Given the description of an element on the screen output the (x, y) to click on. 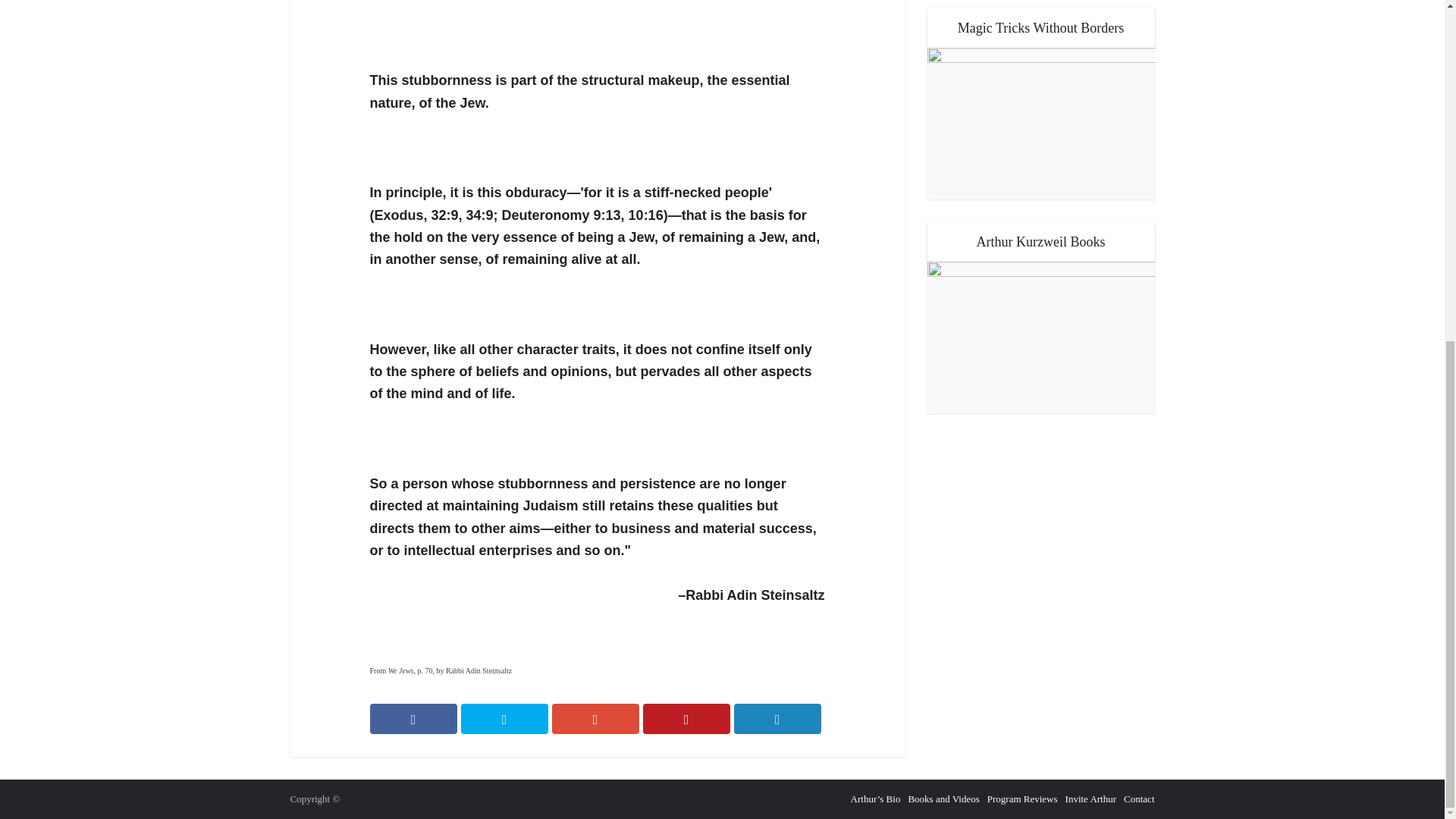
Books and Videos (942, 798)
Program Reviews (1022, 798)
Invite Arthur (1090, 798)
Contact (1139, 798)
